Given the description of an element on the screen output the (x, y) to click on. 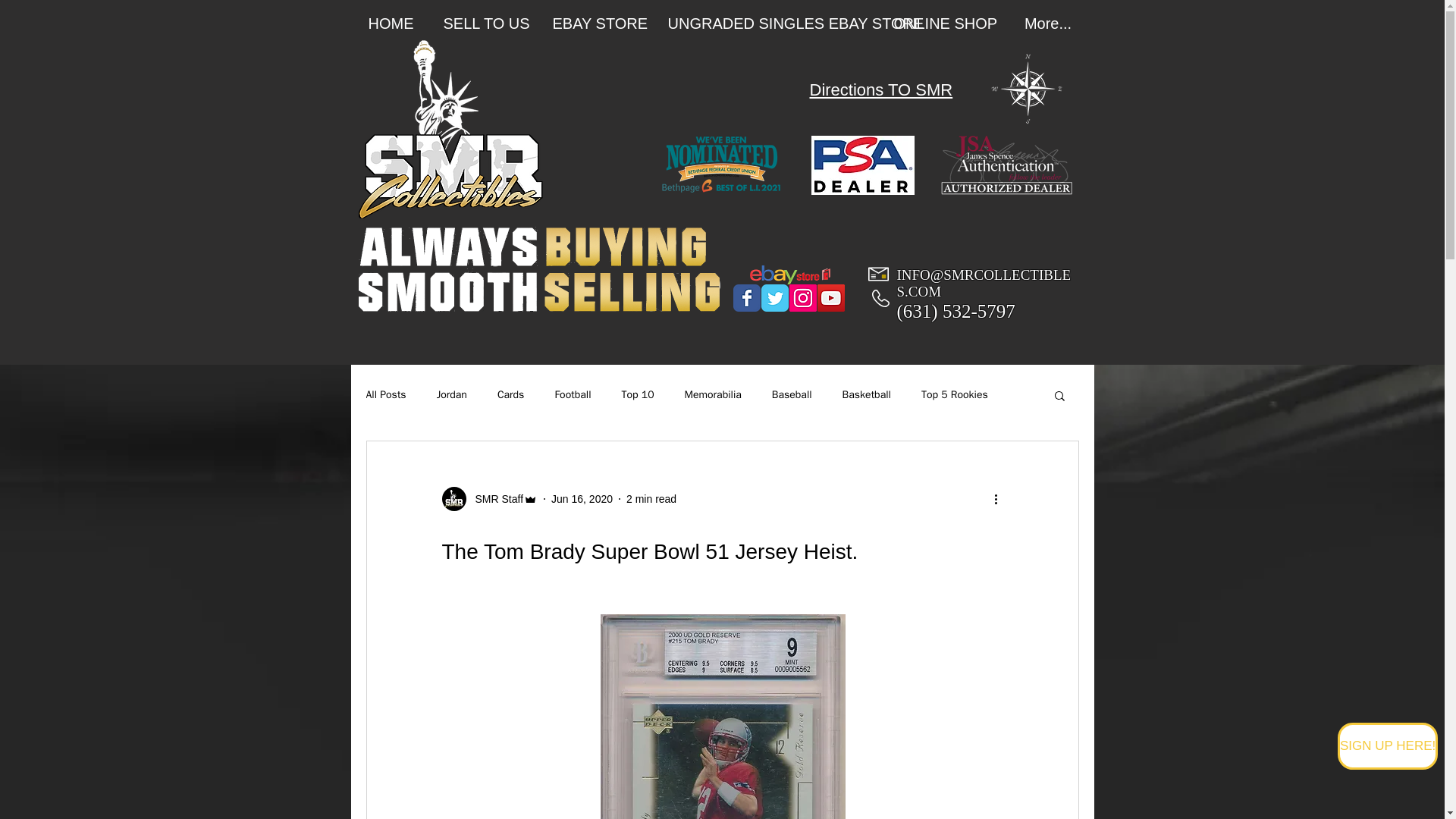
Cards (510, 395)
UNGRADED SINGLES EBAY STORE (769, 24)
SELL TO US (486, 24)
EBAY STORE (598, 24)
Memorabilia (712, 395)
Directions TO SMR (881, 90)
Basketball (867, 395)
SMR Staff (493, 498)
All Posts (385, 395)
Jordan (451, 395)
